Given the description of an element on the screen output the (x, y) to click on. 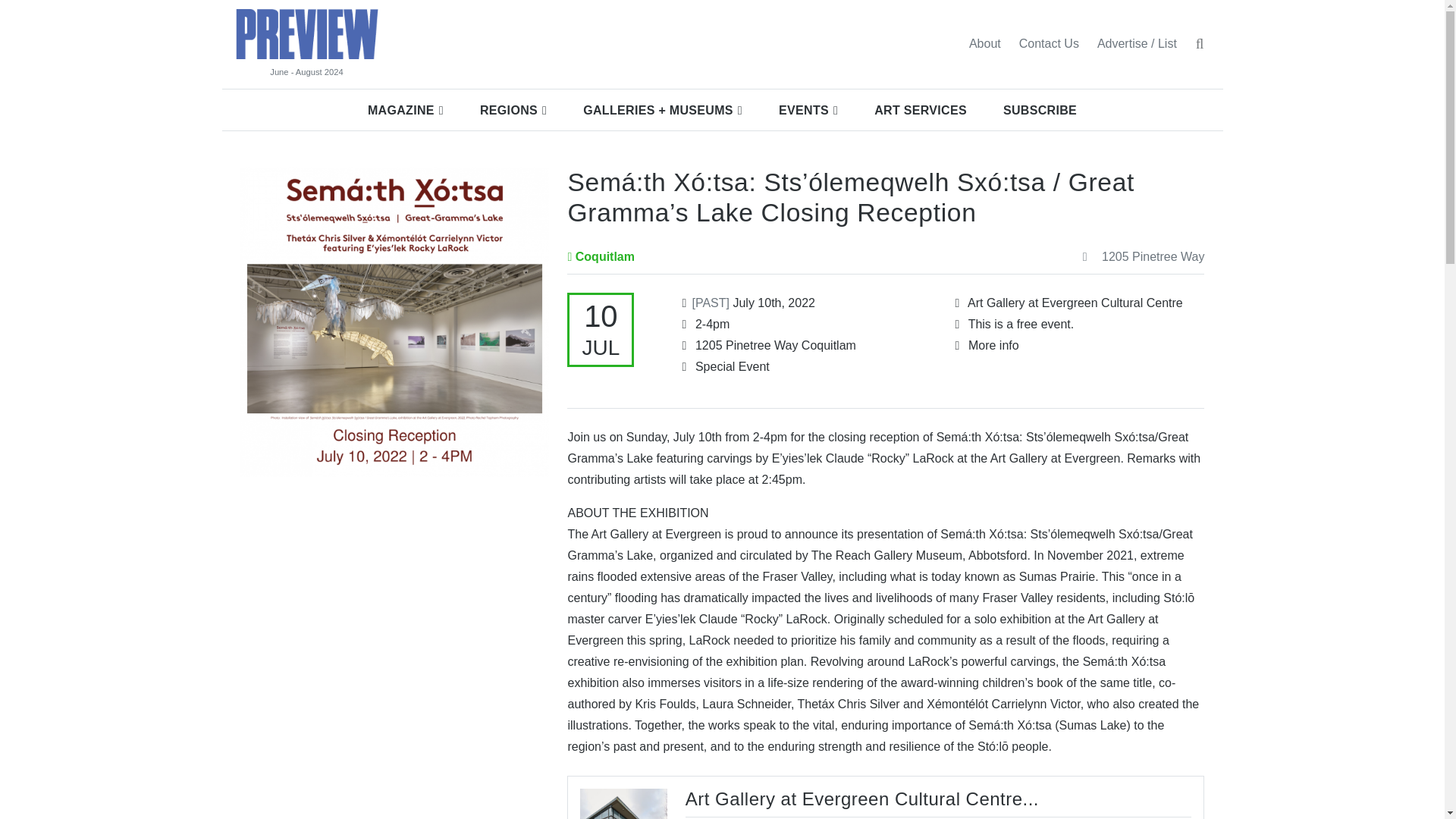
1205 Pinetree Way (1141, 256)
EVENTS (808, 110)
Contact Us (1048, 43)
Art Gallery at Evergreen Cultural Centre (1075, 302)
More info (993, 345)
ART SERVICES (920, 110)
REGIONS (512, 110)
June - August 2024 (305, 71)
MAGAZINE (405, 110)
Art Gallery at Evergreen Cultural Centre... (862, 798)
SUBSCRIBE (1039, 110)
About (984, 43)
